Given the description of an element on the screen output the (x, y) to click on. 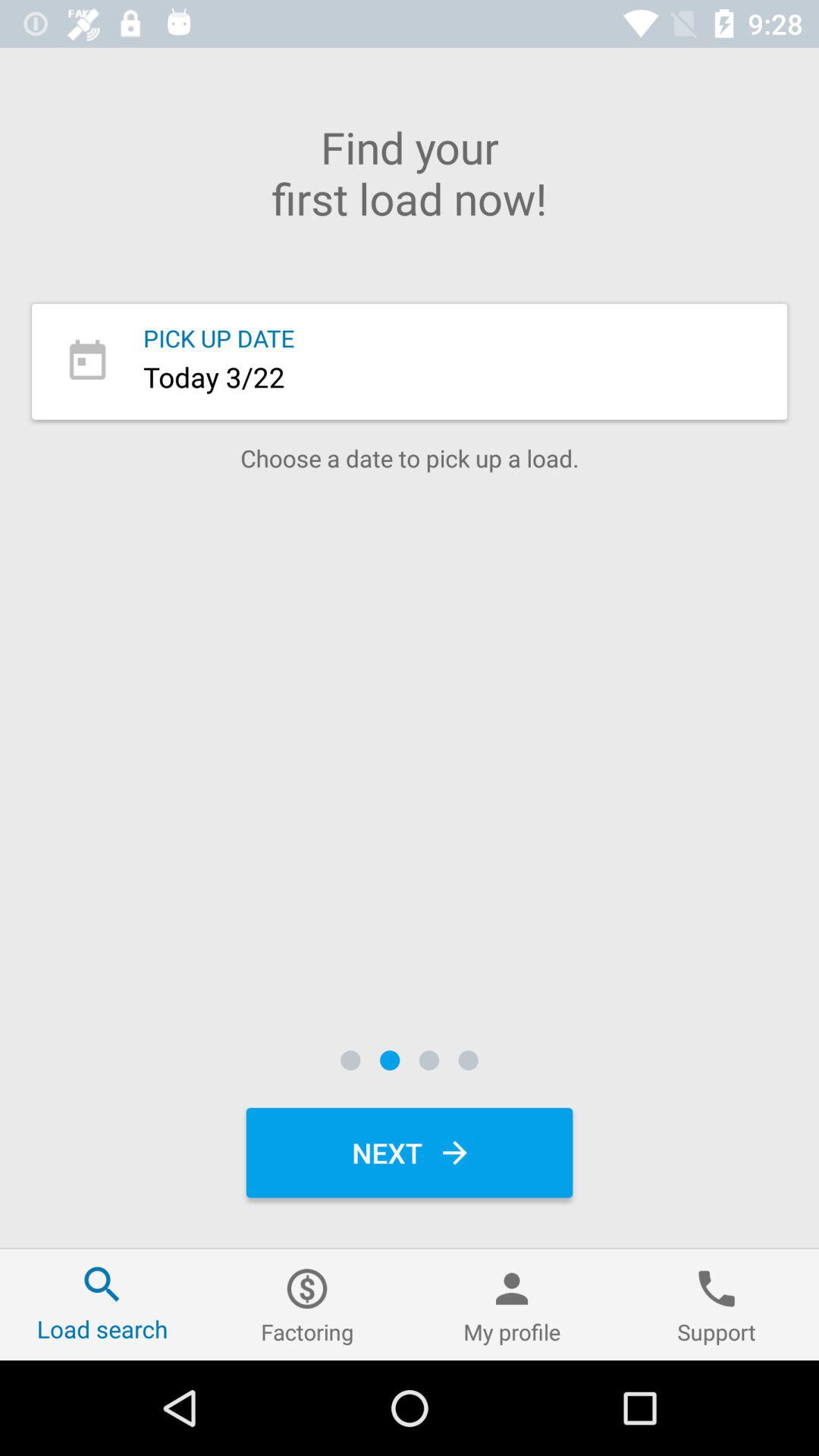
launch icon next to factoring icon (511, 1304)
